Given the description of an element on the screen output the (x, y) to click on. 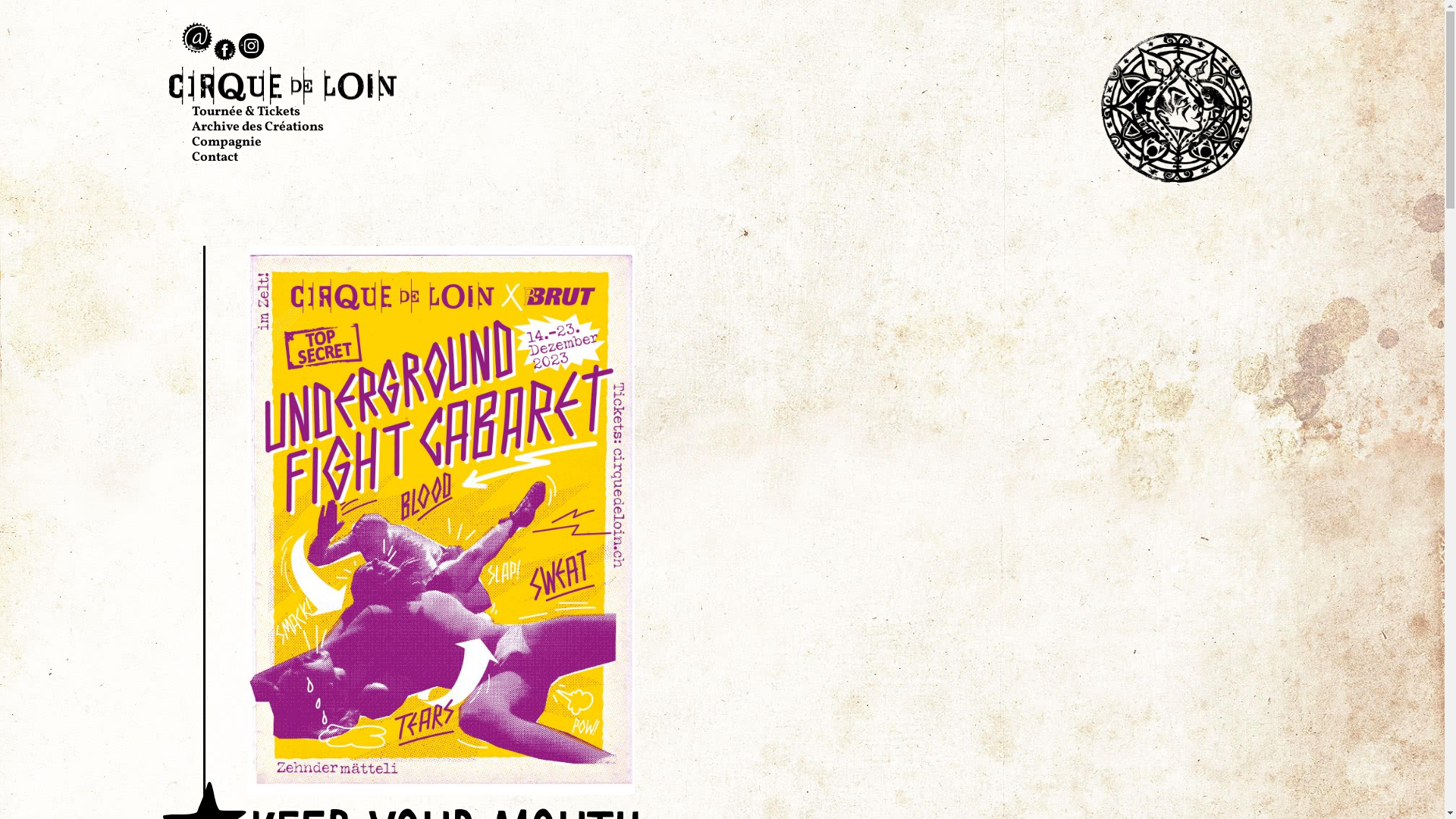
Contact Element type: text (214, 157)
Compagnie Element type: text (225, 141)
